Given the description of an element on the screen output the (x, y) to click on. 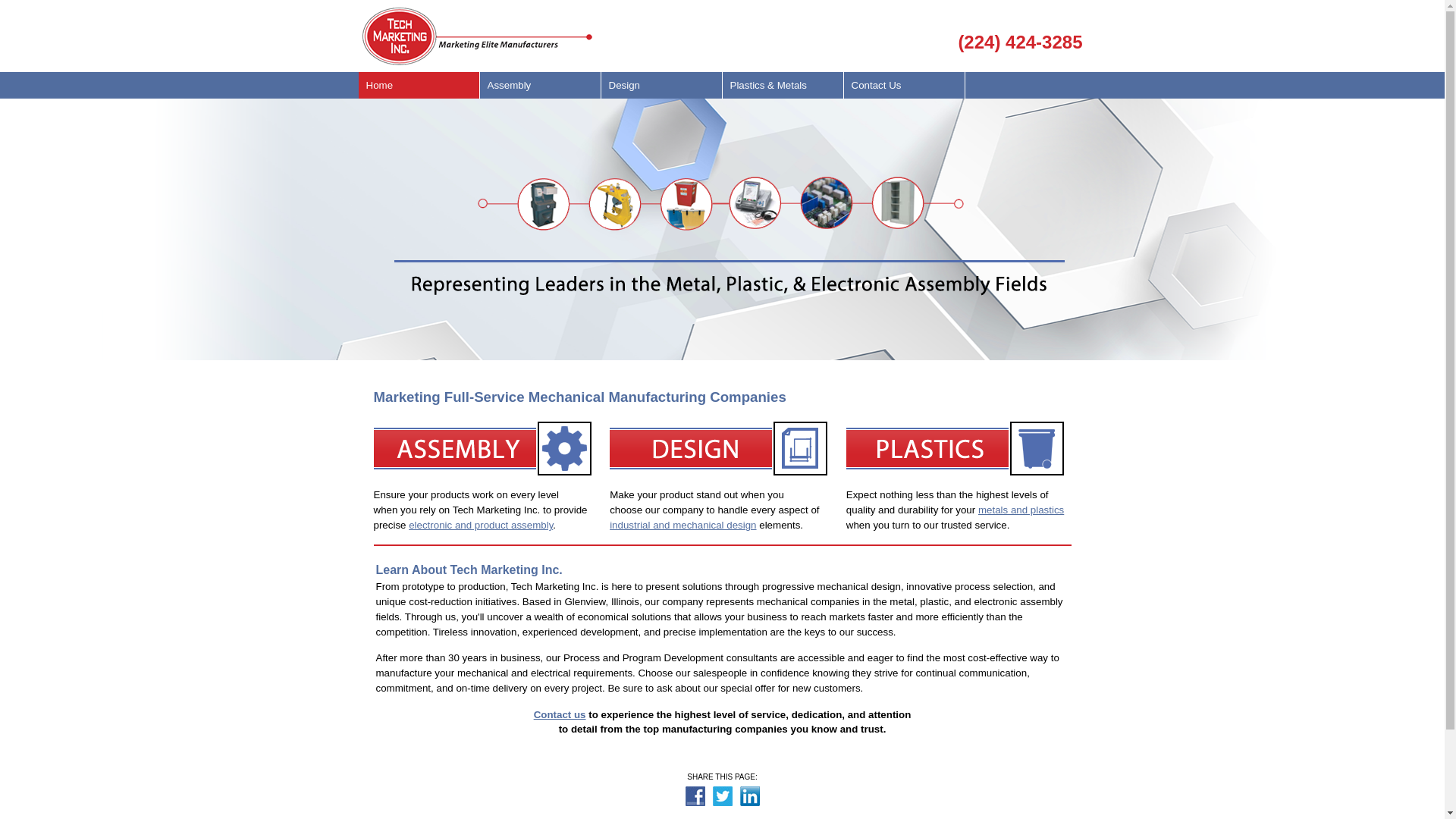
Plans Icon Element type: hover (720, 448)
Contact Us Element type: text (903, 85)
Plastic Bin Icon Element type: hover (956, 448)
Plastics & Metals Element type: text (782, 85)
Design Element type: text (660, 85)
metals and plastics Element type: text (1020, 509)
Assembly Element type: text (539, 85)
Logo, Tech Marketing Inc. Element type: hover (477, 36)
electronic and product assembly Element type: text (480, 524)
Home Element type: text (418, 85)
industrial and mechanical design Element type: text (714, 532)
Contact us Element type: text (559, 713)
Gear Icon Element type: hover (483, 448)
